Given the description of an element on the screen output the (x, y) to click on. 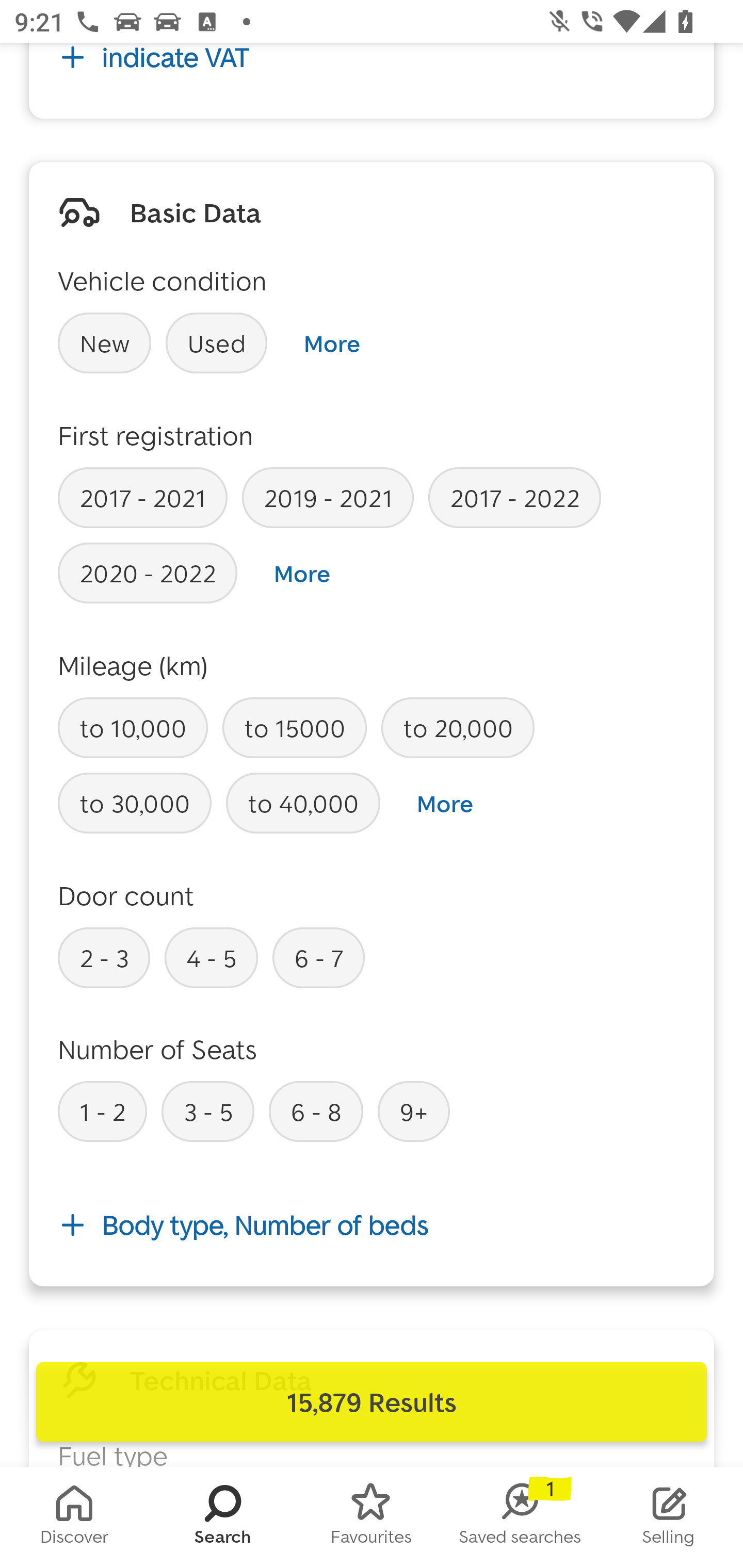
indicate VAT (371, 70)
Basic Data (195, 212)
Vehicle condition (161, 280)
New (103, 342)
Used (216, 342)
More (331, 343)
First registration (155, 435)
2017 - 2021 (142, 497)
2019 - 2021 (327, 497)
2017 - 2022 (514, 497)
2020 - 2022 (147, 572)
More (301, 573)
Mileage (km) (132, 665)
to 10,000 (132, 727)
to 15000 (294, 727)
to 20,000 (457, 727)
to 30,000 (134, 803)
to 40,000 (302, 803)
More (444, 803)
Door count (125, 895)
2 - 3 (103, 956)
4 - 5 (210, 956)
6 - 7 (318, 956)
Number of Seats (157, 1048)
1 - 2 (102, 1110)
3 - 5 (207, 1110)
6 - 8 (315, 1110)
9+ (413, 1110)
Body type, Number of beds (371, 1225)
15,879 Results (371, 1401)
HOMESCREEN Discover (74, 1517)
SEARCH Search (222, 1517)
FAVORITES Favourites (371, 1517)
SAVED_SEARCHES Saved searches 1 (519, 1517)
STOCK_LIST Selling (668, 1517)
